Given the description of an element on the screen output the (x, y) to click on. 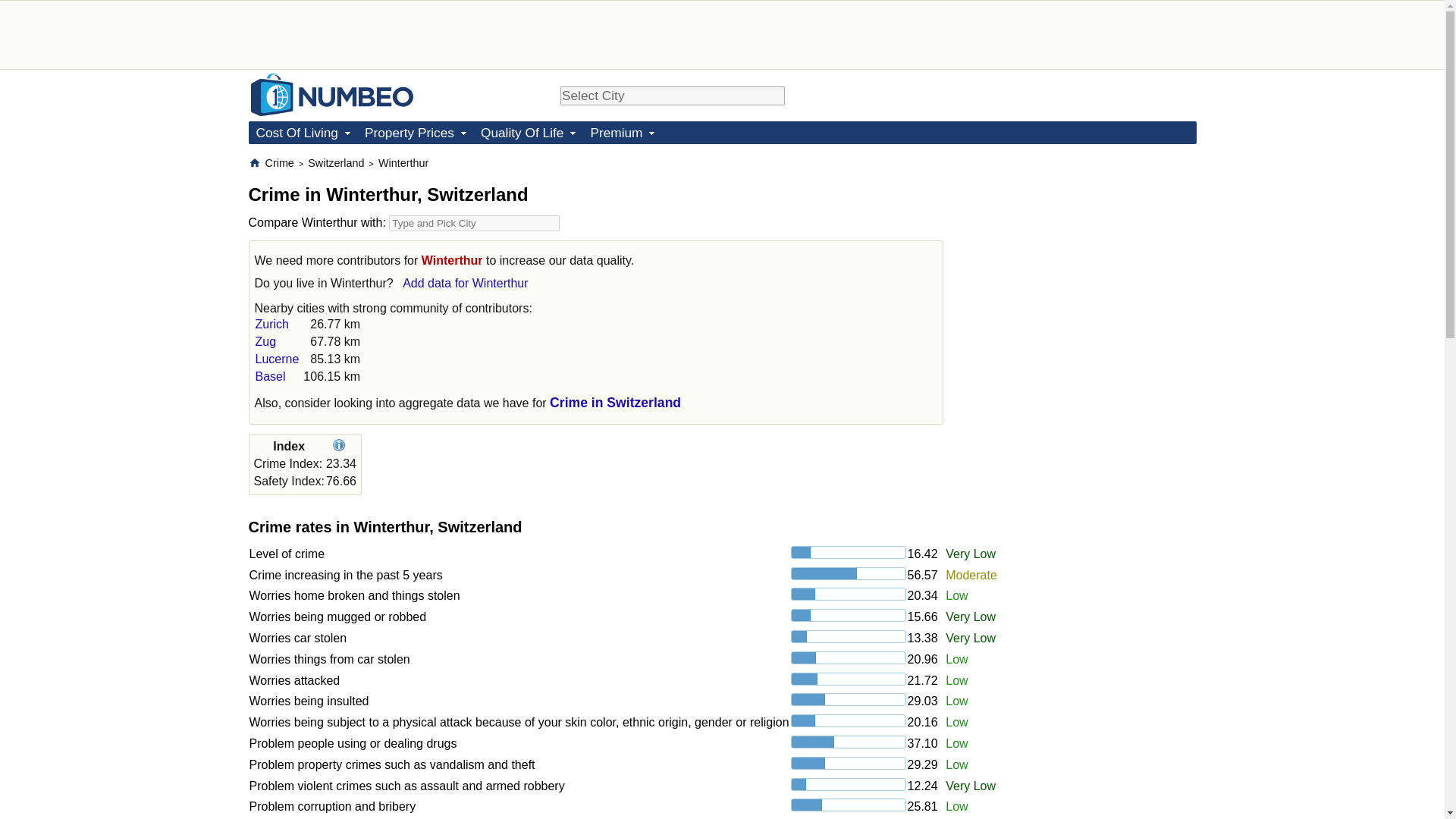
Quality Of Life (527, 132)
Property Prices (414, 132)
Cost Of Living (302, 132)
About these indices (341, 445)
